Given the description of an element on the screen output the (x, y) to click on. 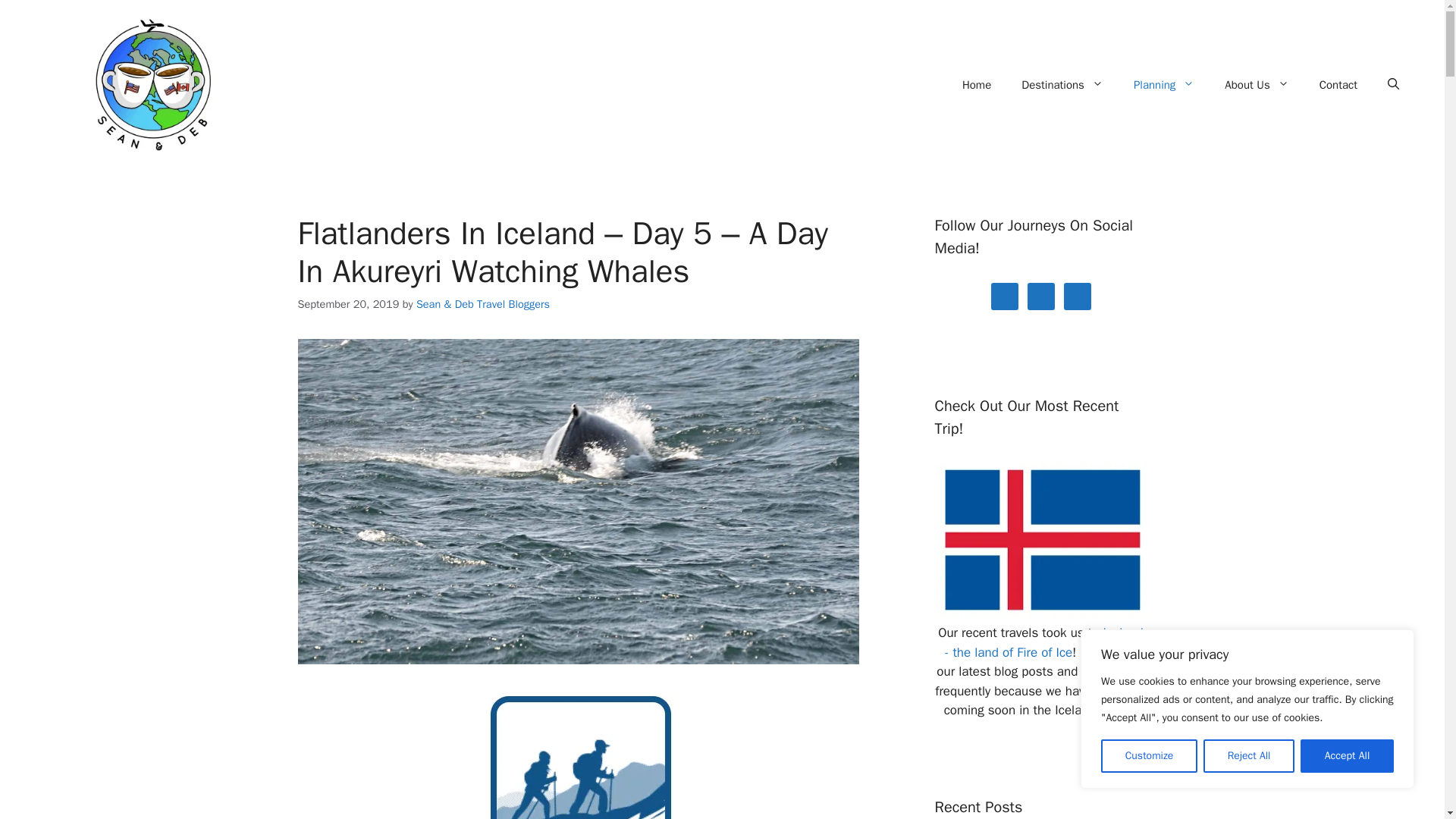
Destinations (1062, 84)
Accept All (1346, 756)
Customize (1148, 756)
Planning (1163, 84)
Home (976, 84)
About Us (1256, 84)
Contact (1338, 84)
Reject All (1249, 756)
